Given the description of an element on the screen output the (x, y) to click on. 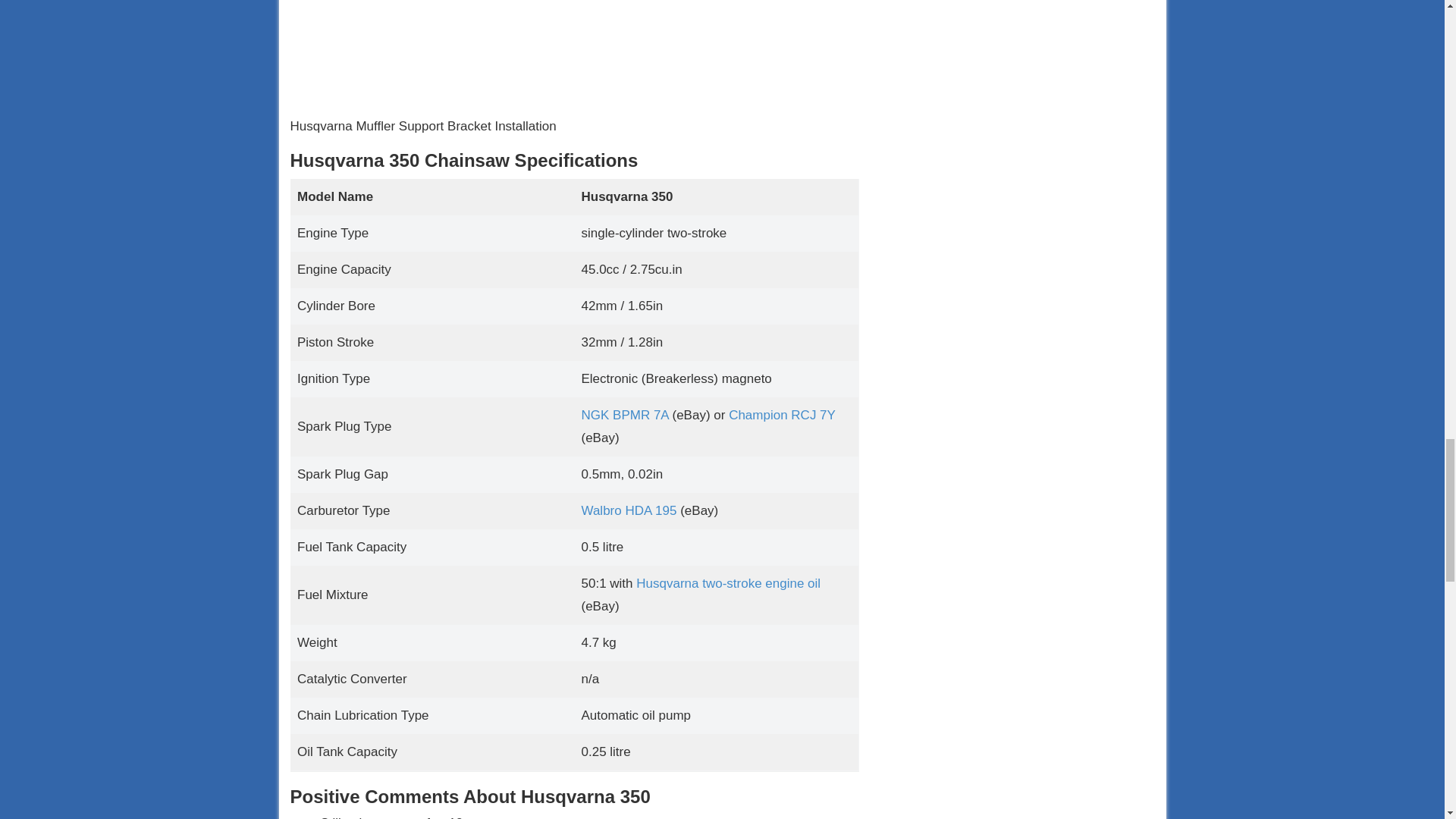
Walbro HDA 195 (628, 510)
NGK BPMR 7A (624, 414)
Champion RCJ 7Y (781, 414)
Husqvarna two-stroke engine oil (728, 583)
